Given the description of an element on the screen output the (x, y) to click on. 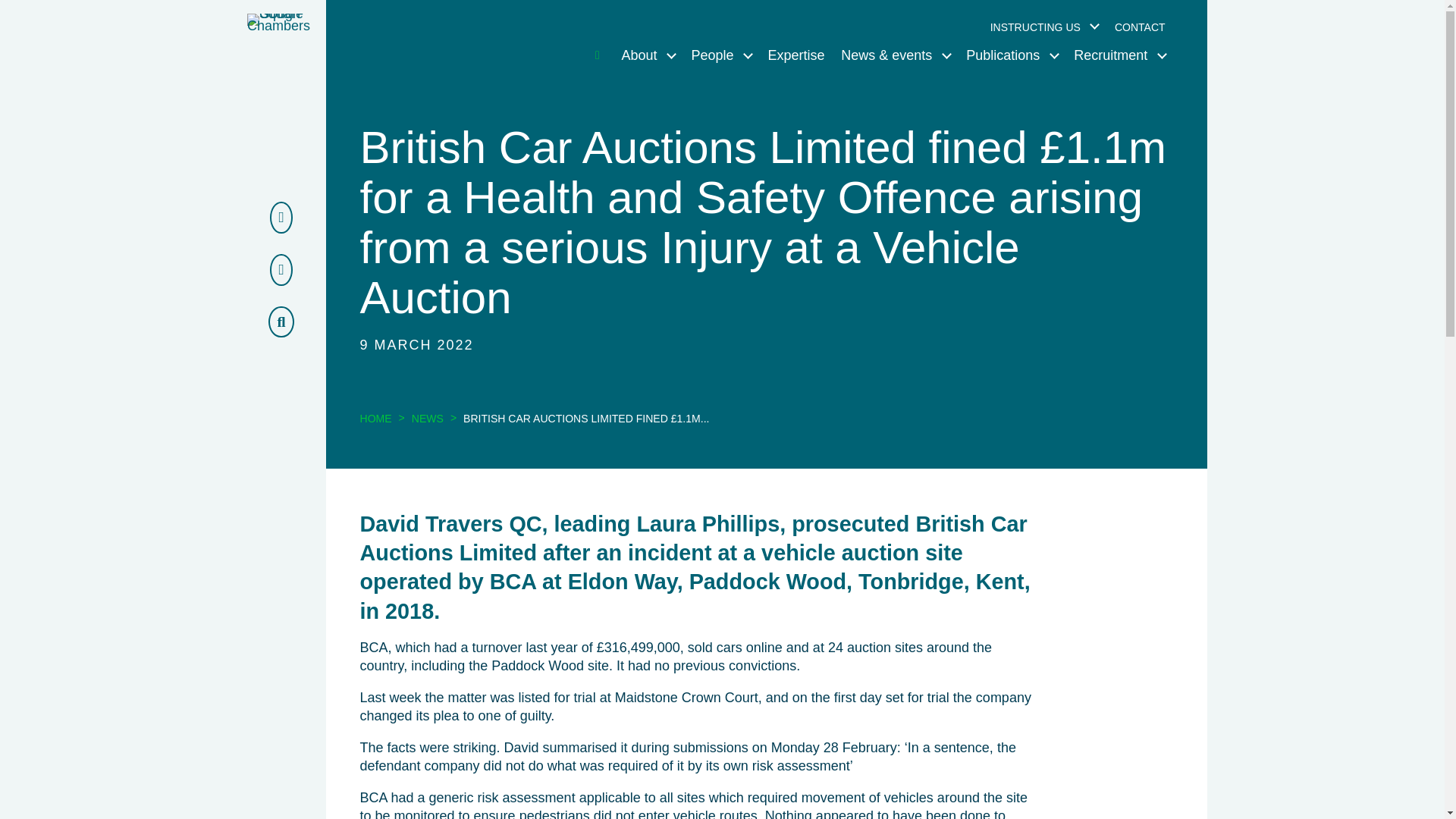
Publications (1011, 55)
CONTACT (1139, 26)
News (428, 418)
INSTRUCTING US (1043, 26)
About (647, 55)
Recruitment (1119, 55)
People (721, 55)
Expertise (796, 55)
